Given the description of an element on the screen output the (x, y) to click on. 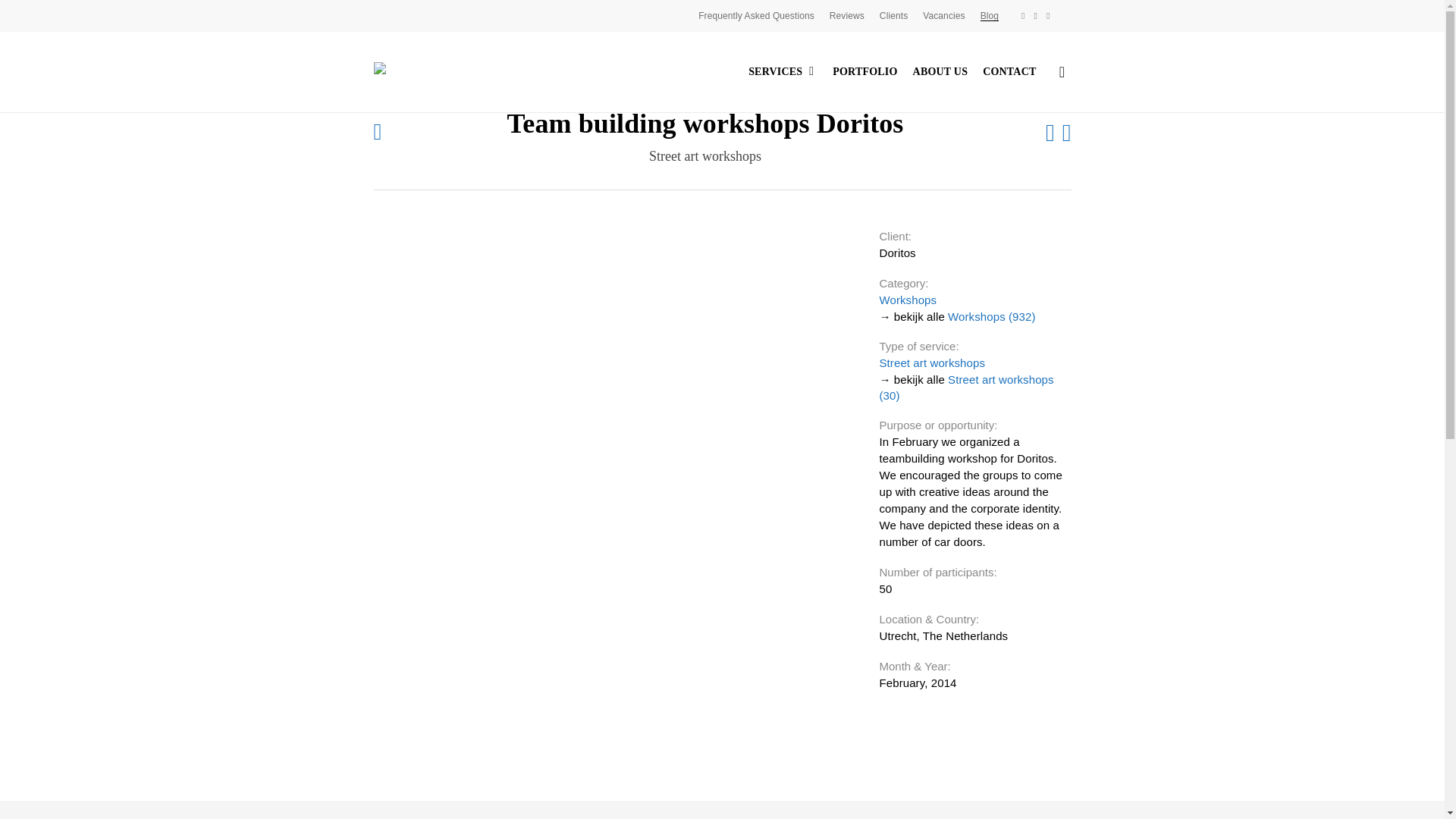
Clients (893, 15)
About Graffitinetwerk (940, 71)
Reviews (846, 15)
Vacancies (943, 15)
Blog (988, 15)
Contact (1008, 71)
Vacancies (943, 15)
Frequently Asked Questions (755, 15)
Reviews (846, 15)
SERVICES (782, 71)
